Given the description of an element on the screen output the (x, y) to click on. 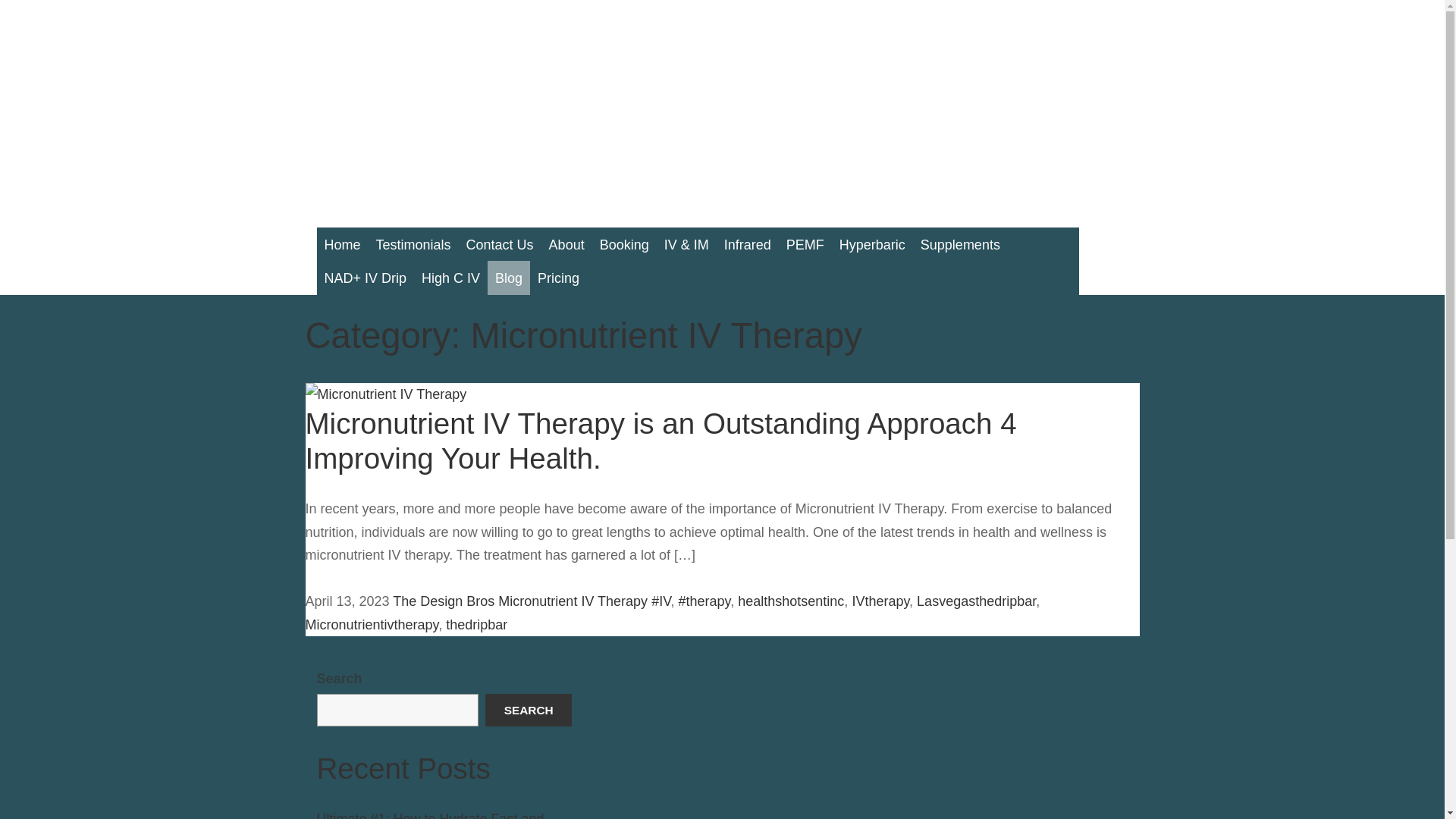
Supplements (959, 244)
SEARCH (528, 709)
Blog (508, 277)
IVtherapy (879, 601)
View all posts in Micronutrientivtherapy (371, 624)
Pricing (557, 277)
View all posts in thedripbar (475, 624)
Lasvegasthedripbar (976, 601)
The Design Bros (444, 601)
healthshotsentinc (791, 601)
Home (342, 244)
Hyperbaric (871, 244)
PEMF (804, 244)
View all posts in IVtherapy (879, 601)
